Given the description of an element on the screen output the (x, y) to click on. 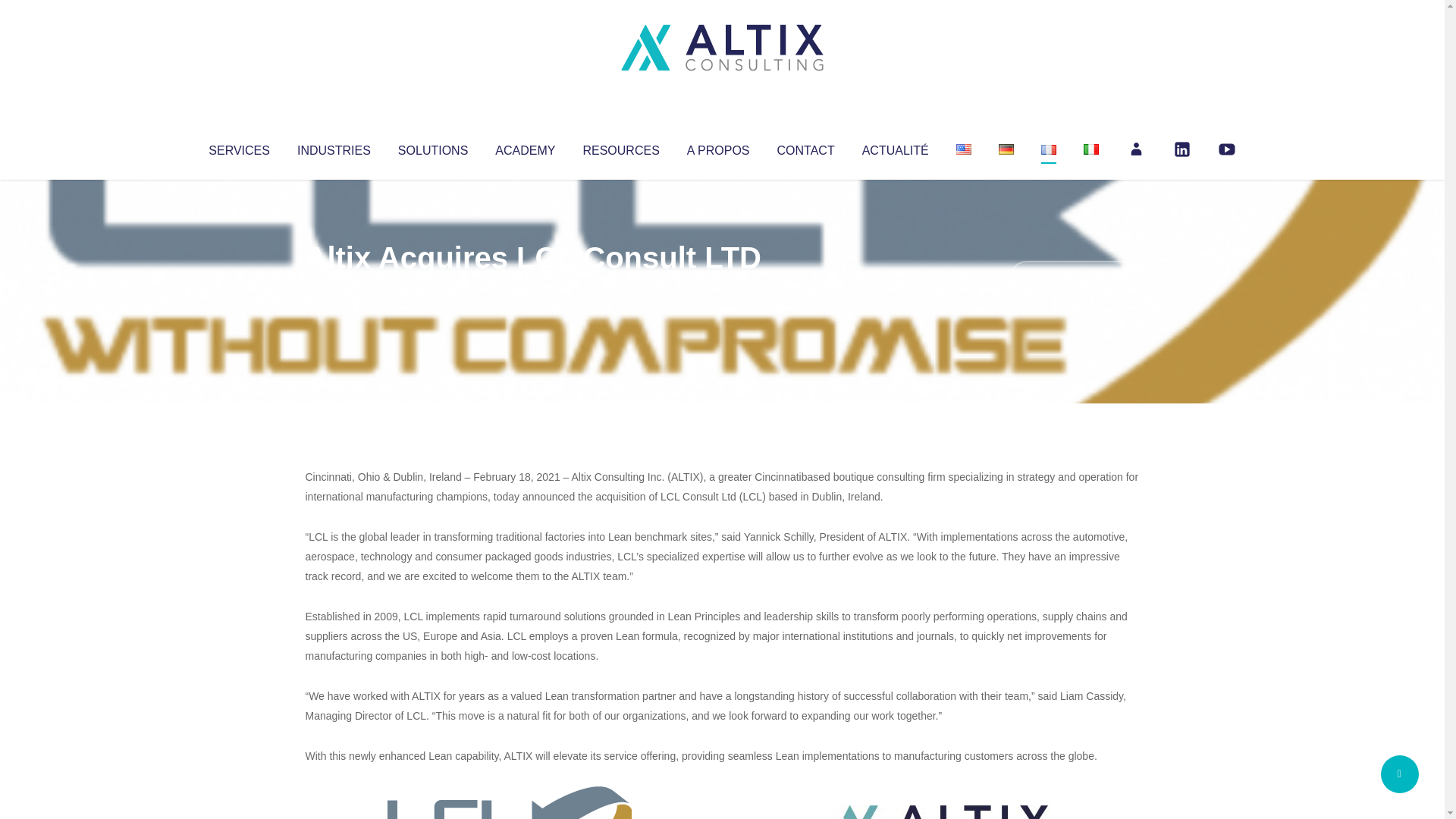
Altix (333, 287)
INDUSTRIES (334, 146)
Uncategorized (530, 287)
SERVICES (238, 146)
A PROPOS (718, 146)
ACADEMY (524, 146)
No Comments (1073, 278)
SOLUTIONS (432, 146)
Articles par Altix (333, 287)
RESOURCES (620, 146)
